Given the description of an element on the screen output the (x, y) to click on. 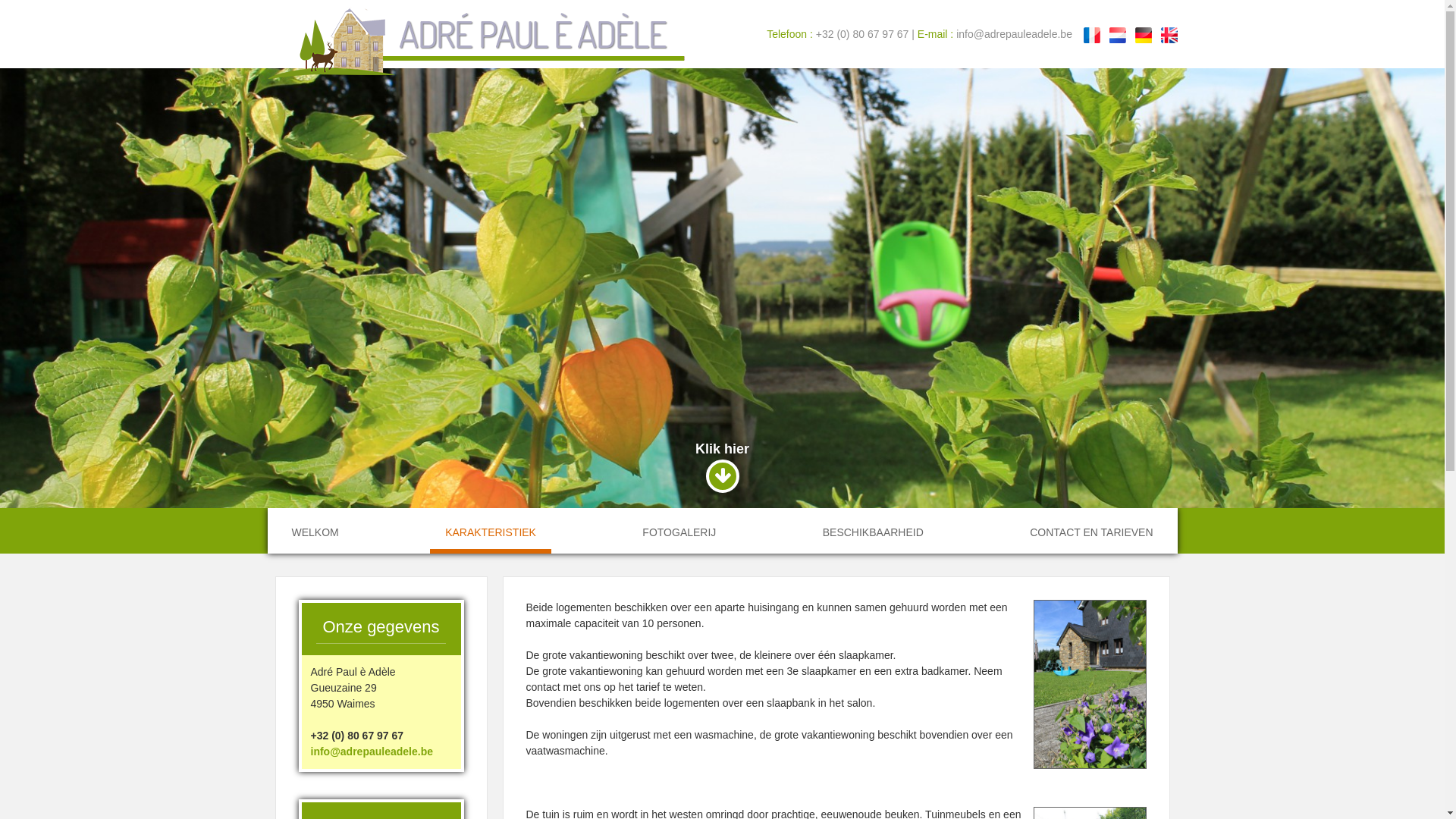
WELKOM Element type: text (314, 528)
info@adrepauleadele.be Element type: text (371, 751)
info@adrepauleadele.be Element type: text (1014, 34)
FOTOGALERIJ Element type: text (679, 528)
CONTACT EN TARIEVEN Element type: text (1090, 528)
BESCHIKBAARHEID Element type: text (872, 528)
KARAKTERISTIEK Element type: text (490, 530)
